Given the description of an element on the screen output the (x, y) to click on. 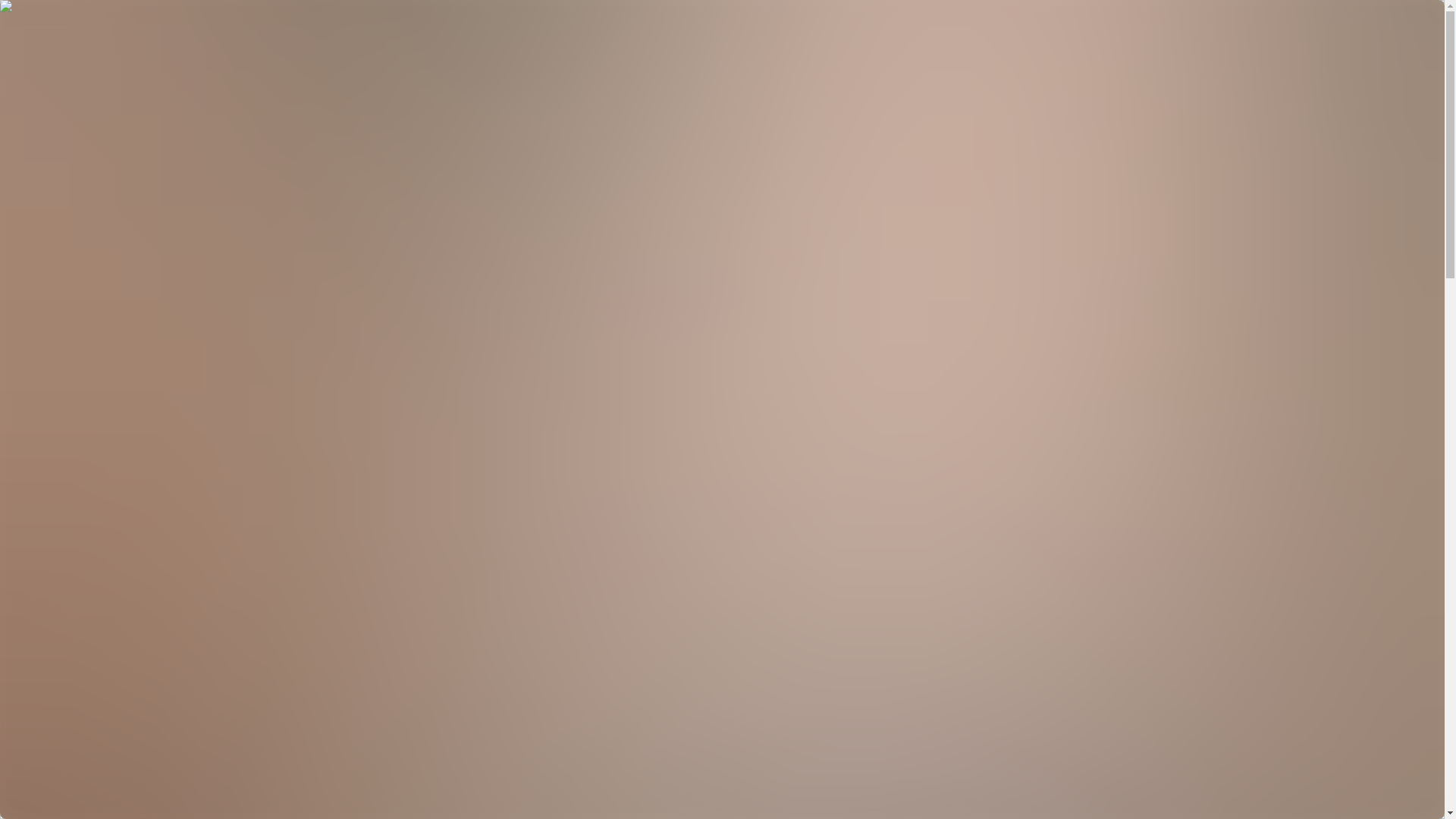
News (50, 72)
Creators (56, 45)
Categories (61, 59)
